Given the description of an element on the screen output the (x, y) to click on. 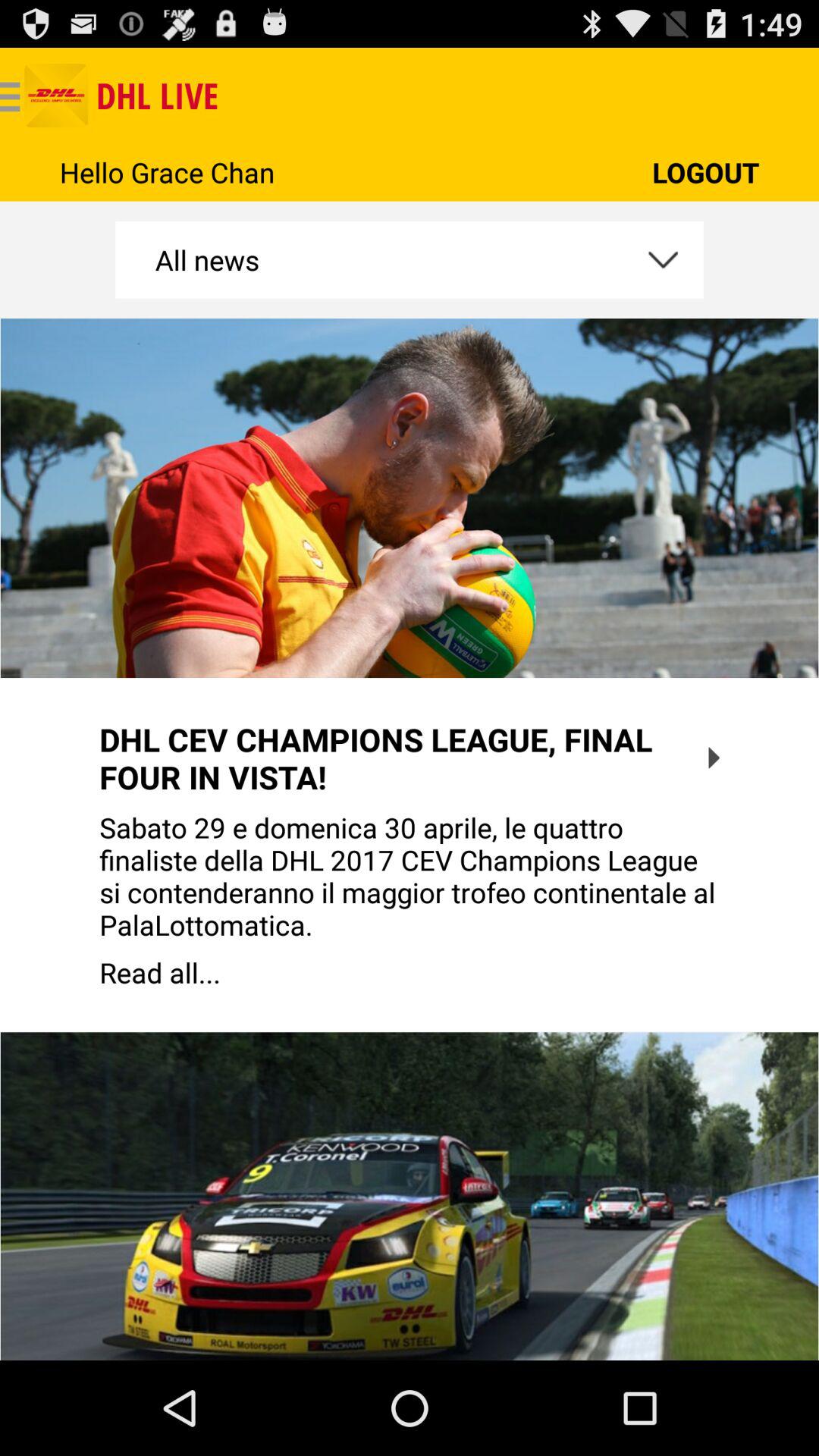
press item above sabato 29 e item (713, 757)
